Given the description of an element on the screen output the (x, y) to click on. 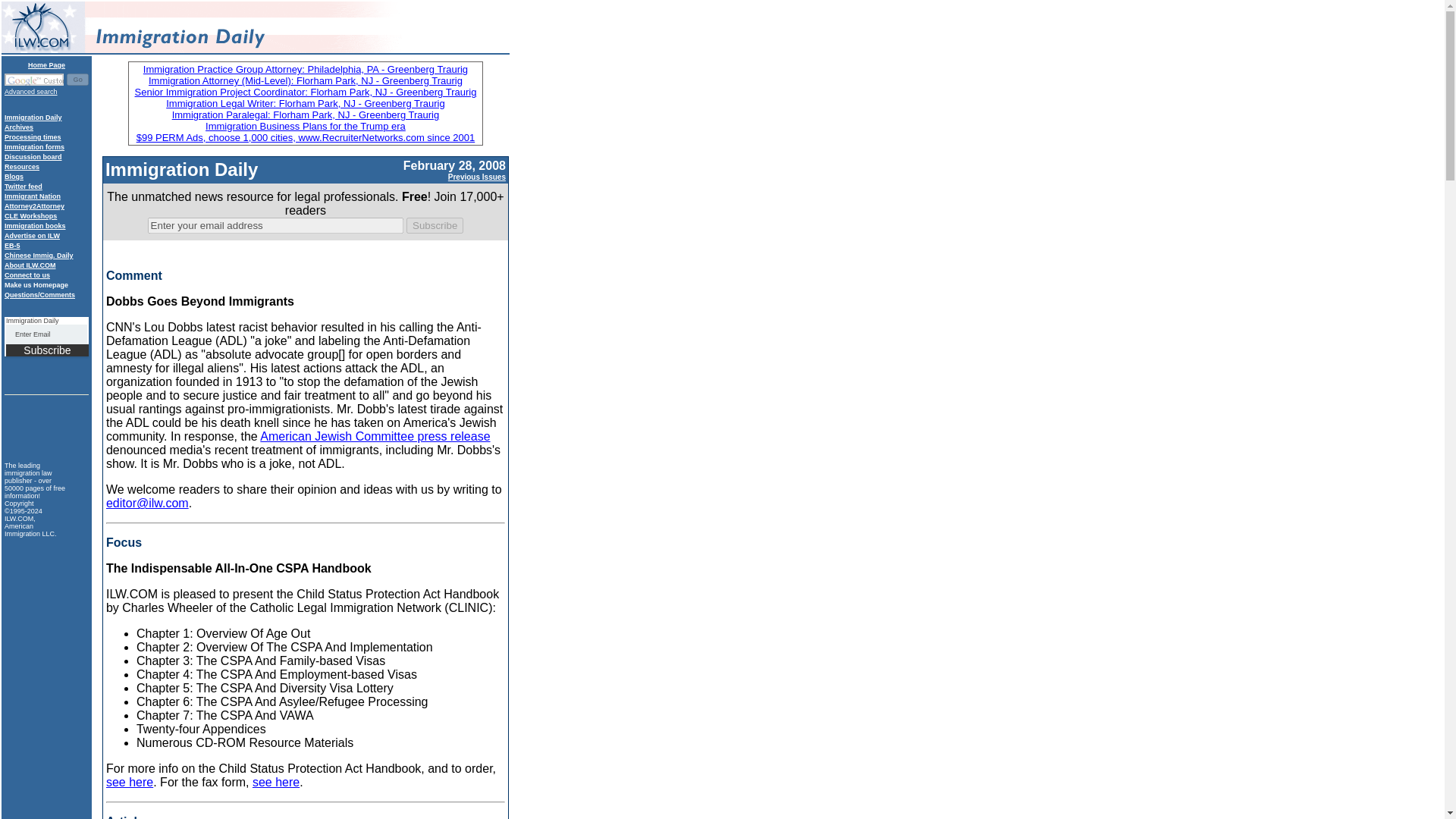
Subscribe (46, 349)
Archives (18, 127)
Immigration Business Plans for the Trump era (305, 125)
see here (129, 781)
Resources (21, 166)
Immigration Paralegal: Florham Park, NJ - Greenberg Traurig (305, 114)
Immigration forms (34, 146)
Processing times (32, 136)
CLE Workshops (30, 216)
